Given the description of an element on the screen output the (x, y) to click on. 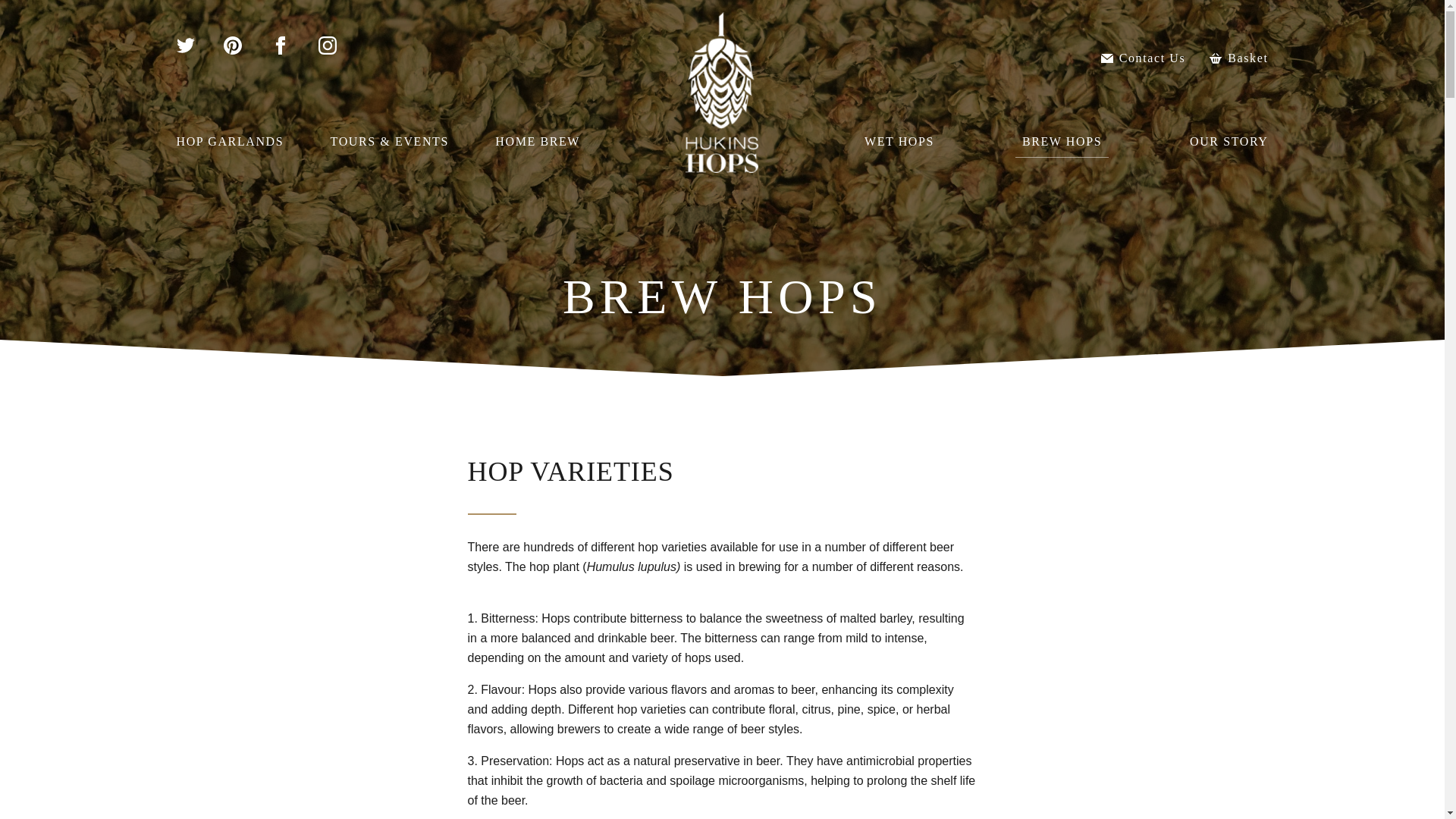
WET HOPS (898, 141)
OUR STORY (1228, 141)
BREW HOPS (722, 40)
Contact Us (1061, 141)
Basket (1143, 58)
HOME BREW (1237, 58)
HOP GARLANDS (537, 141)
